Given the description of an element on the screen output the (x, y) to click on. 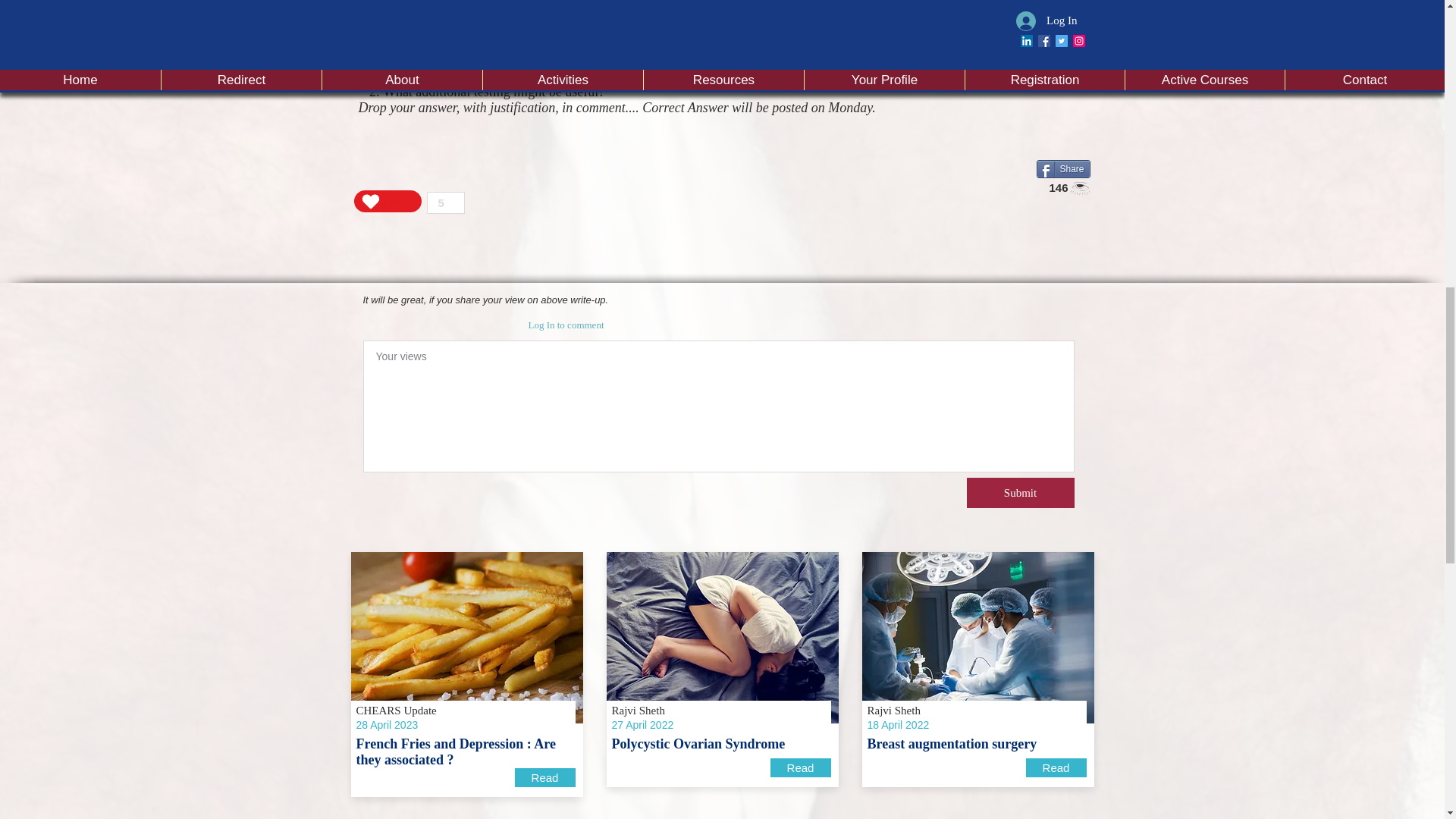
Log In to comment (565, 324)
Share (1062, 168)
Read (544, 777)
Read (800, 767)
Like It (386, 201)
5 (445, 202)
 French Fries and Depression : Are they associated ? (466, 637)
Share (1062, 168)
Read (1055, 767)
Polycystic Ovarian Syndrome  (722, 637)
Breast augmentation surgery (977, 637)
